Given the description of an element on the screen output the (x, y) to click on. 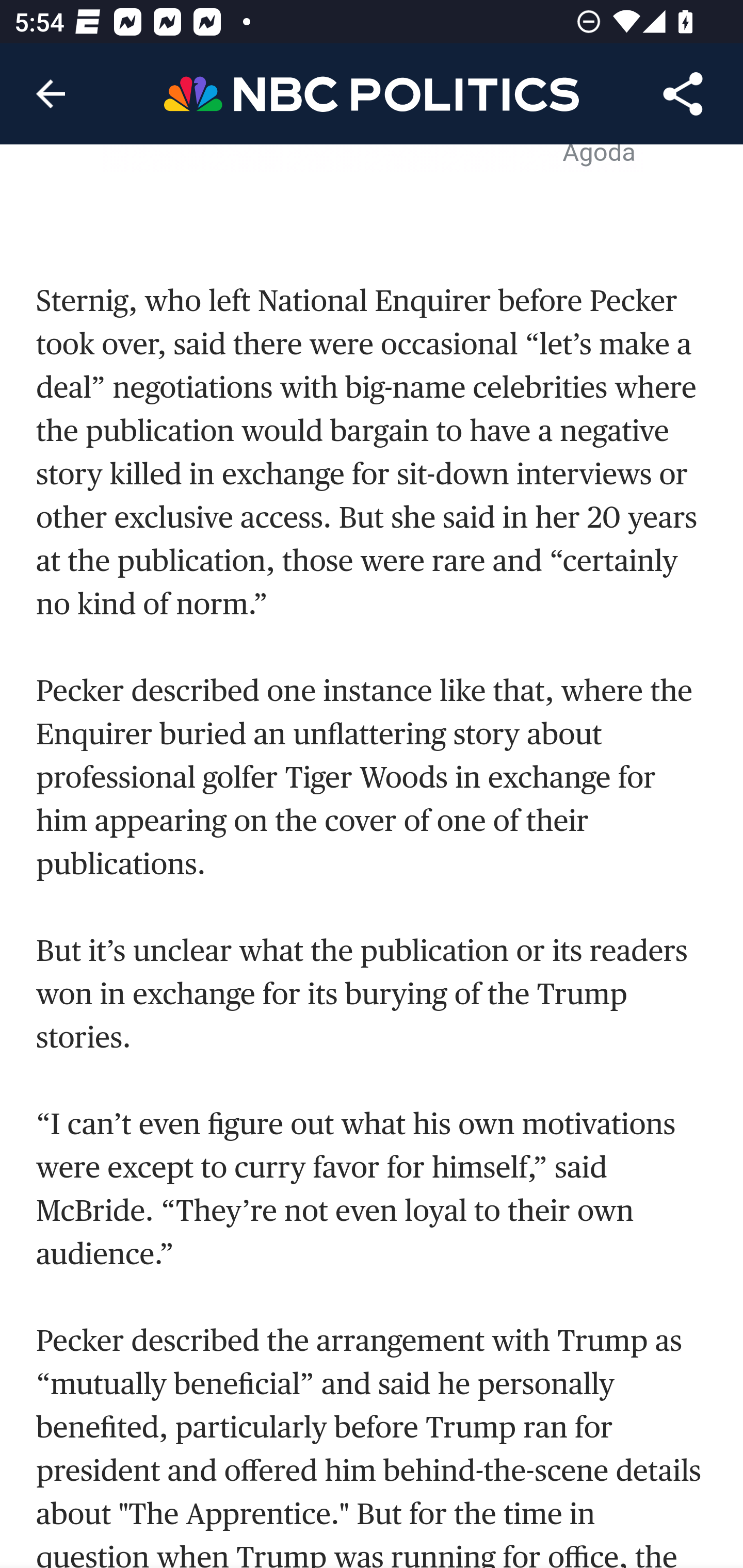
Navigate up (50, 93)
Share Article, button (683, 94)
Header, NBC Politics (371, 93)
Agoda (599, 157)
